Given the description of an element on the screen output the (x, y) to click on. 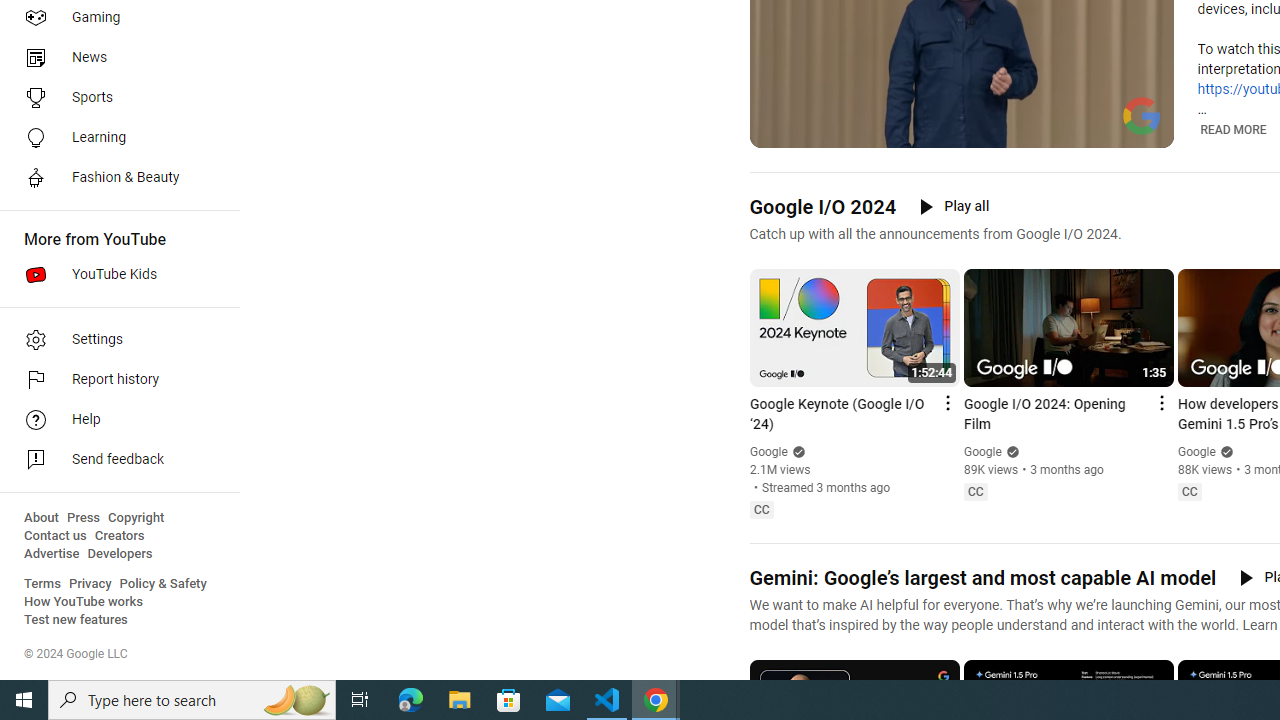
YouTube Kids (113, 274)
Closed captions (1189, 492)
Creators (118, 536)
Google I/O 2024 (822, 206)
How YouTube works (83, 602)
Seek slider (961, 109)
Subtitles/closed captions unavailable (1071, 130)
Channel watermark (1141, 115)
Send feedback (113, 459)
